Given the description of an element on the screen output the (x, y) to click on. 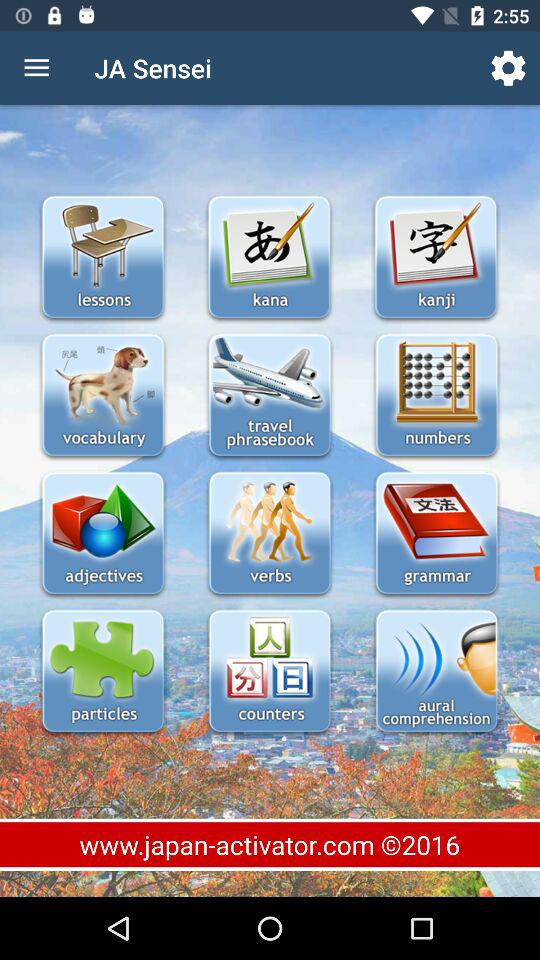
go to travel phrasebook app (269, 396)
